Given the description of an element on the screen output the (x, y) to click on. 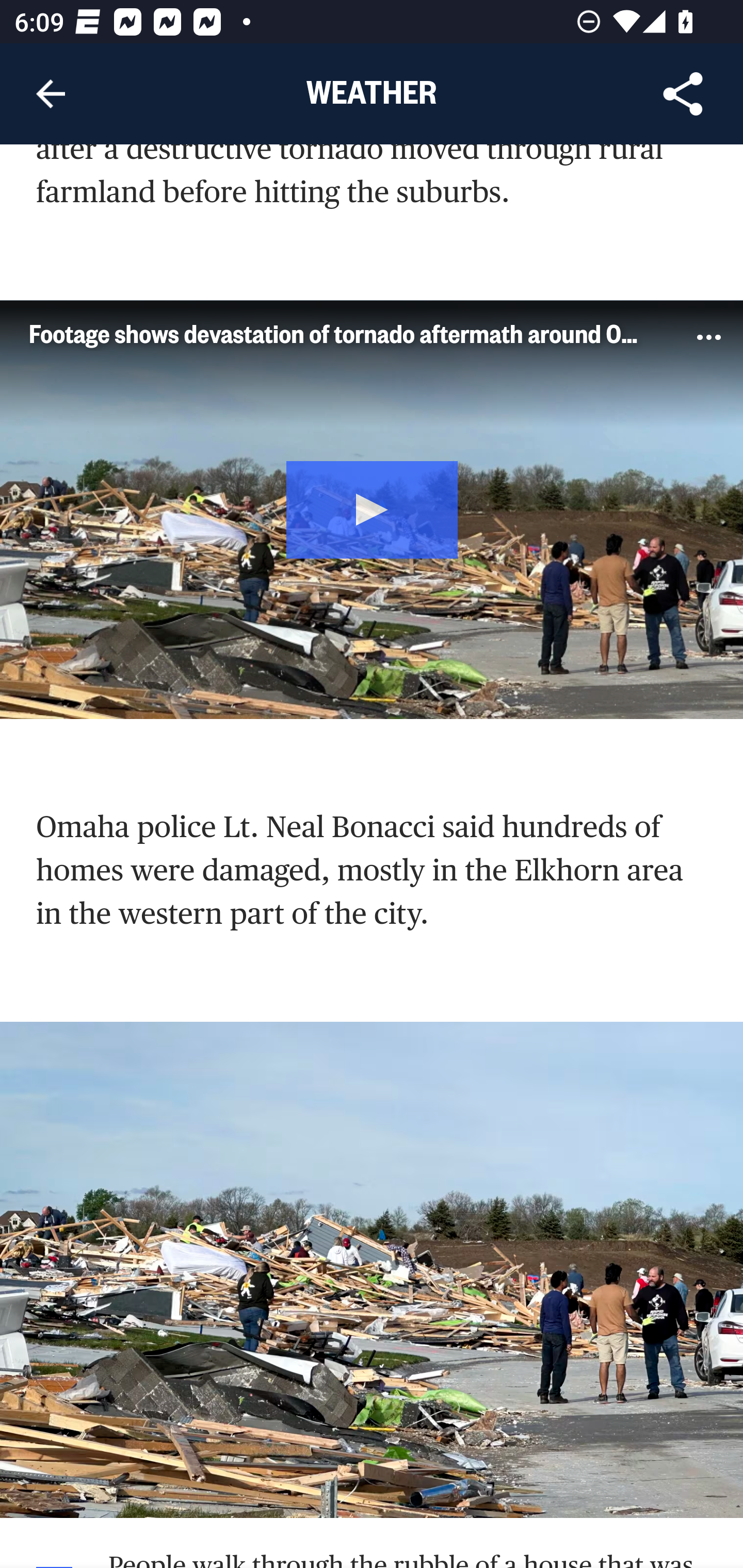
Navigate up (50, 93)
Share Article, button (683, 94)
Video Player Unable to play media. Play   (371, 509)
Play (372, 507)
